Given the description of an element on the screen output the (x, y) to click on. 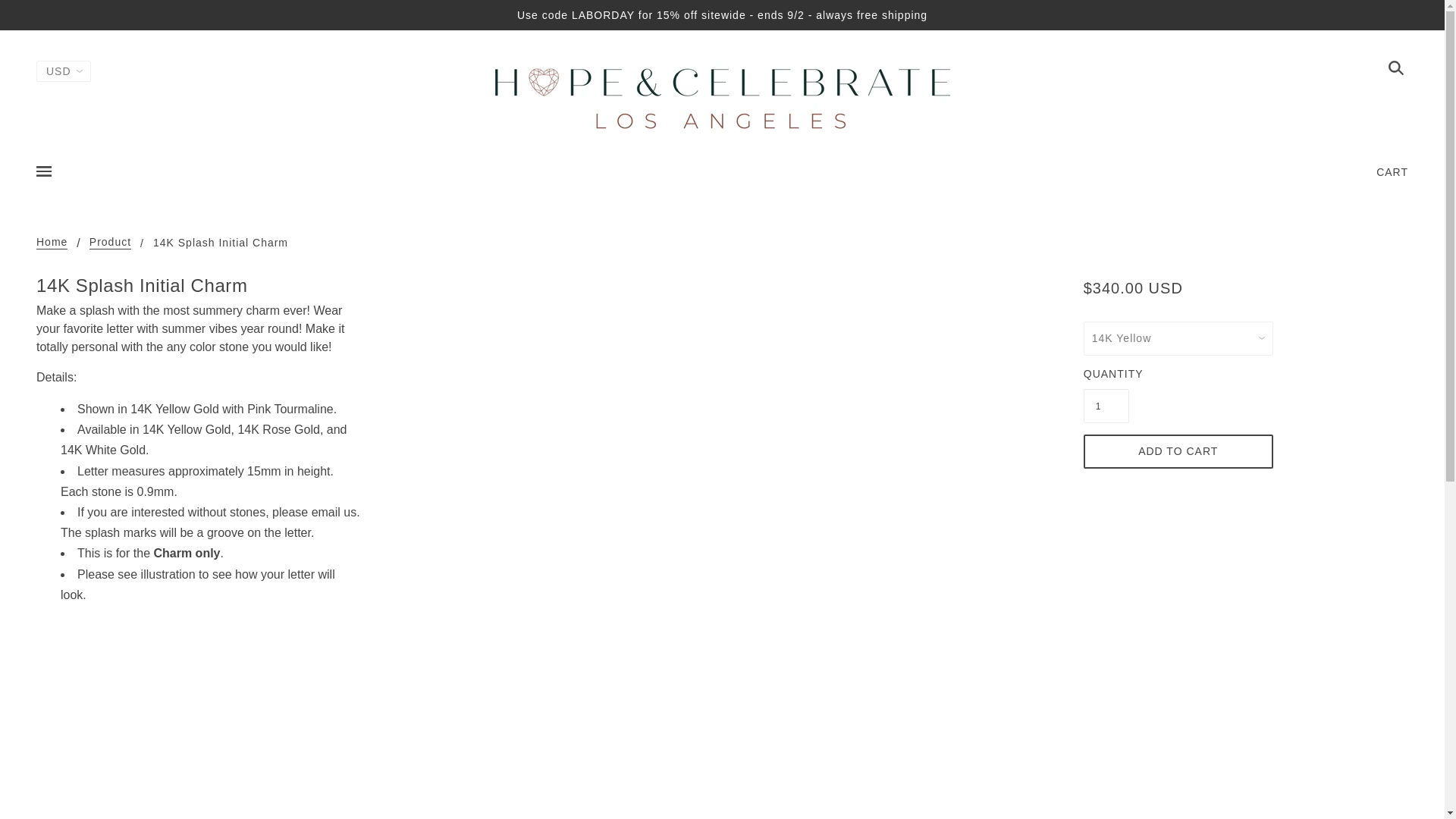
CART (1392, 171)
Home (51, 242)
Product (109, 242)
1 (1106, 406)
ADD TO CART (1177, 451)
